Given the description of an element on the screen output the (x, y) to click on. 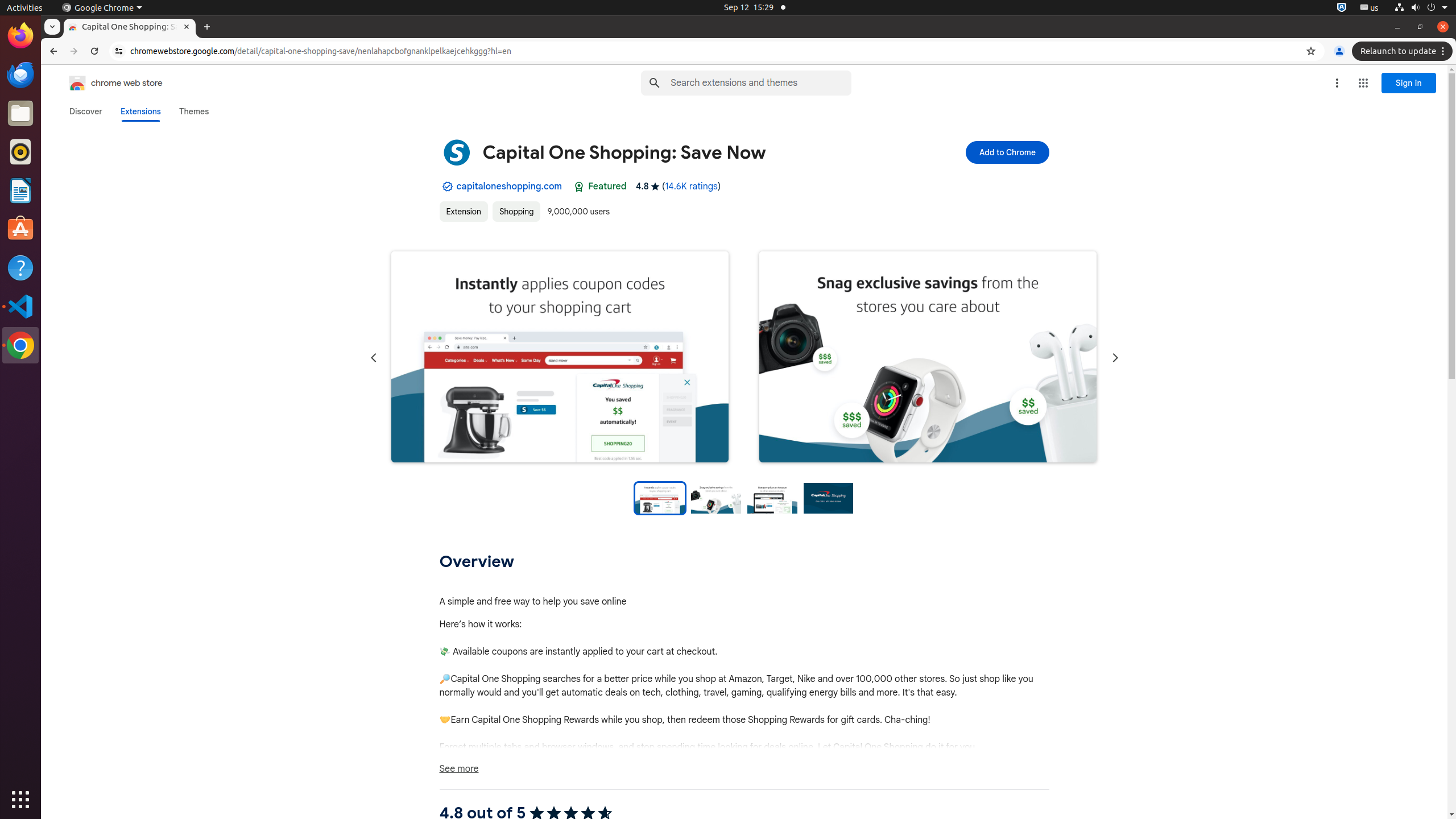
Preview slide 4 Element type: push-button (828, 498)
Add to Chrome Element type: push-button (1007, 152)
